Given the description of an element on the screen output the (x, y) to click on. 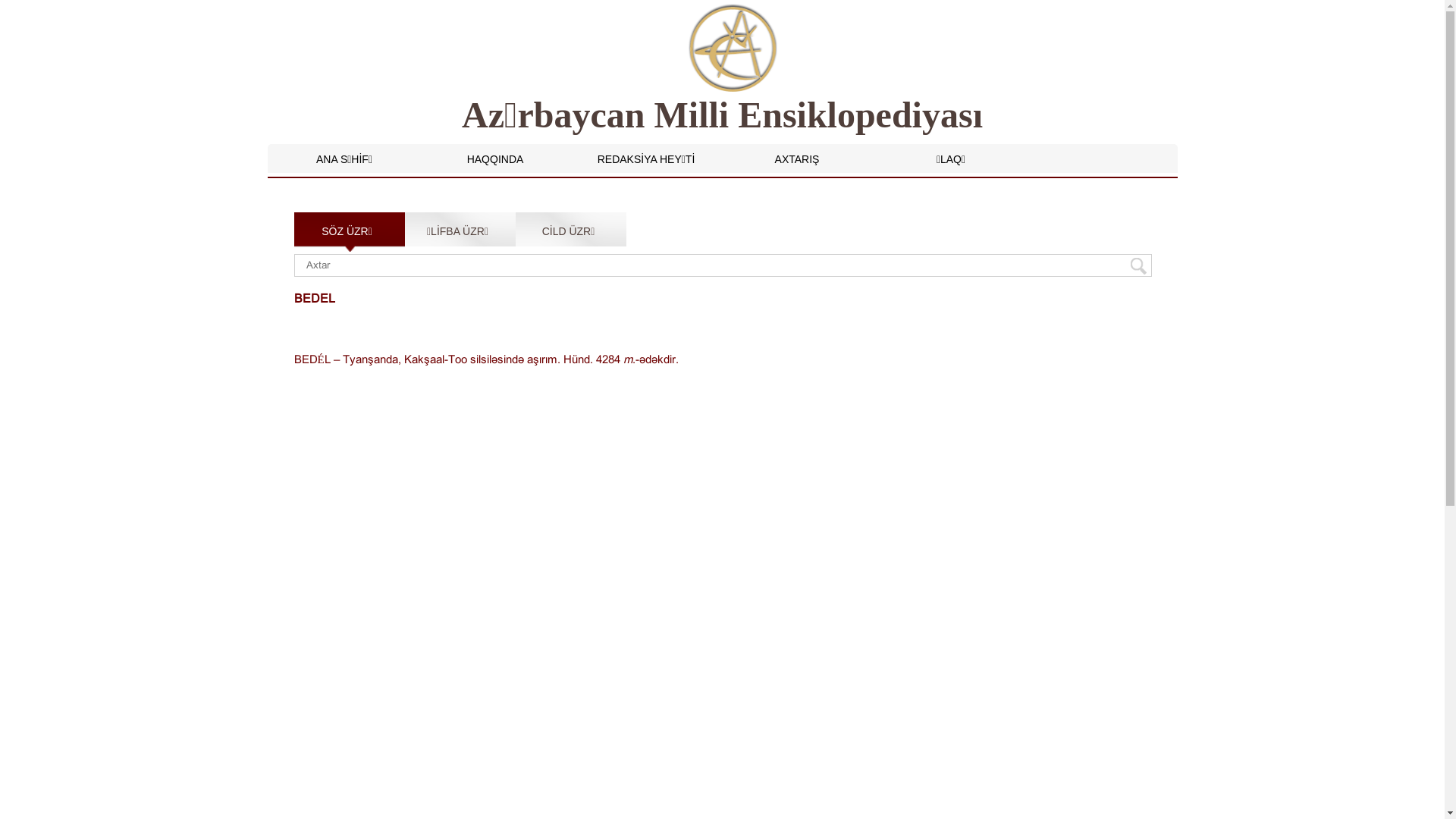
HAQQINDA Element type: text (495, 159)
